Given the description of an element on the screen output the (x, y) to click on. 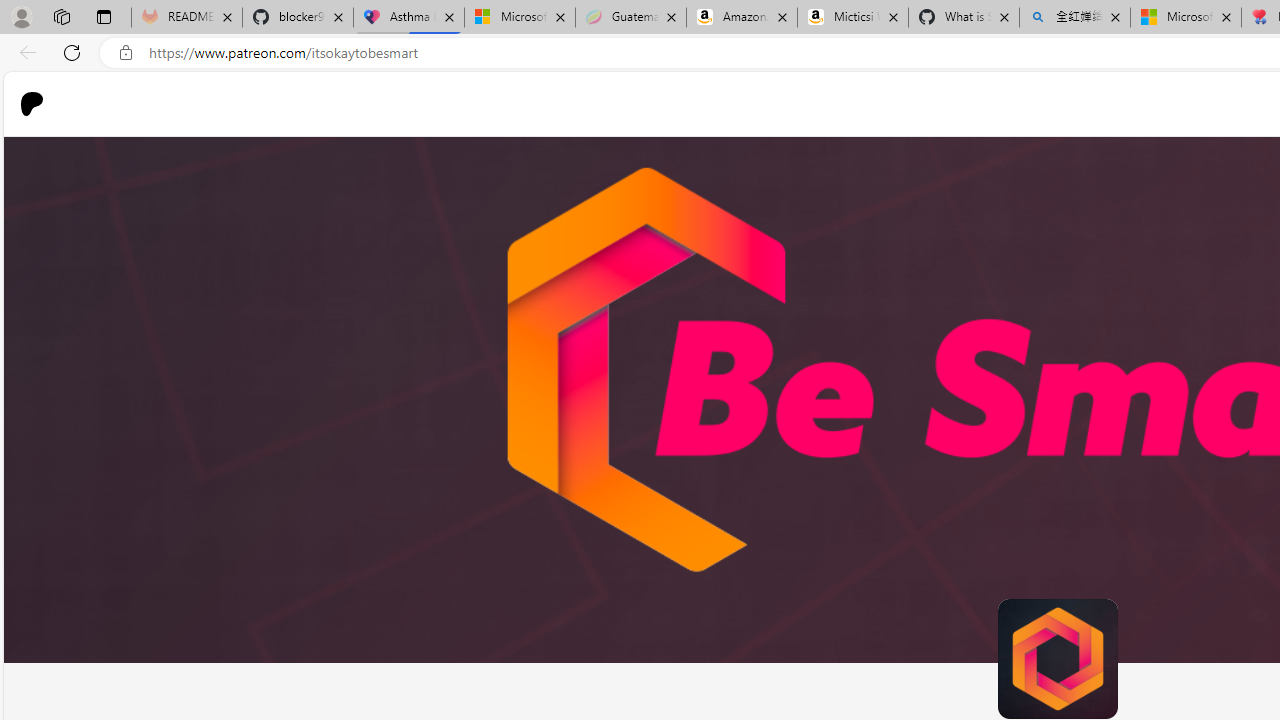
Patreon logo (31, 103)
Go to home page (40, 103)
